Given the description of an element on the screen output the (x, y) to click on. 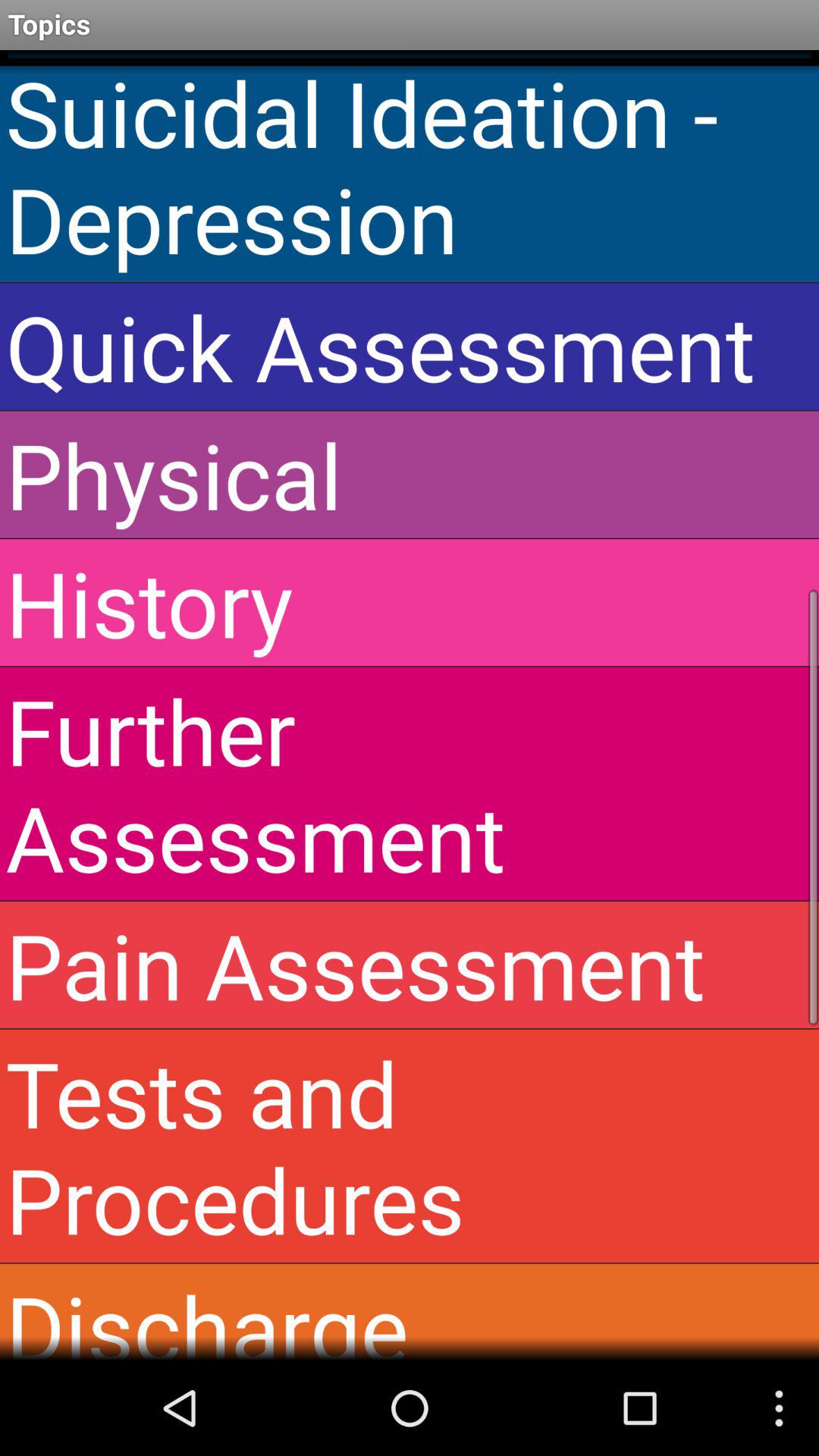
choose icon below the topics icon (409, 166)
